Given the description of an element on the screen output the (x, y) to click on. 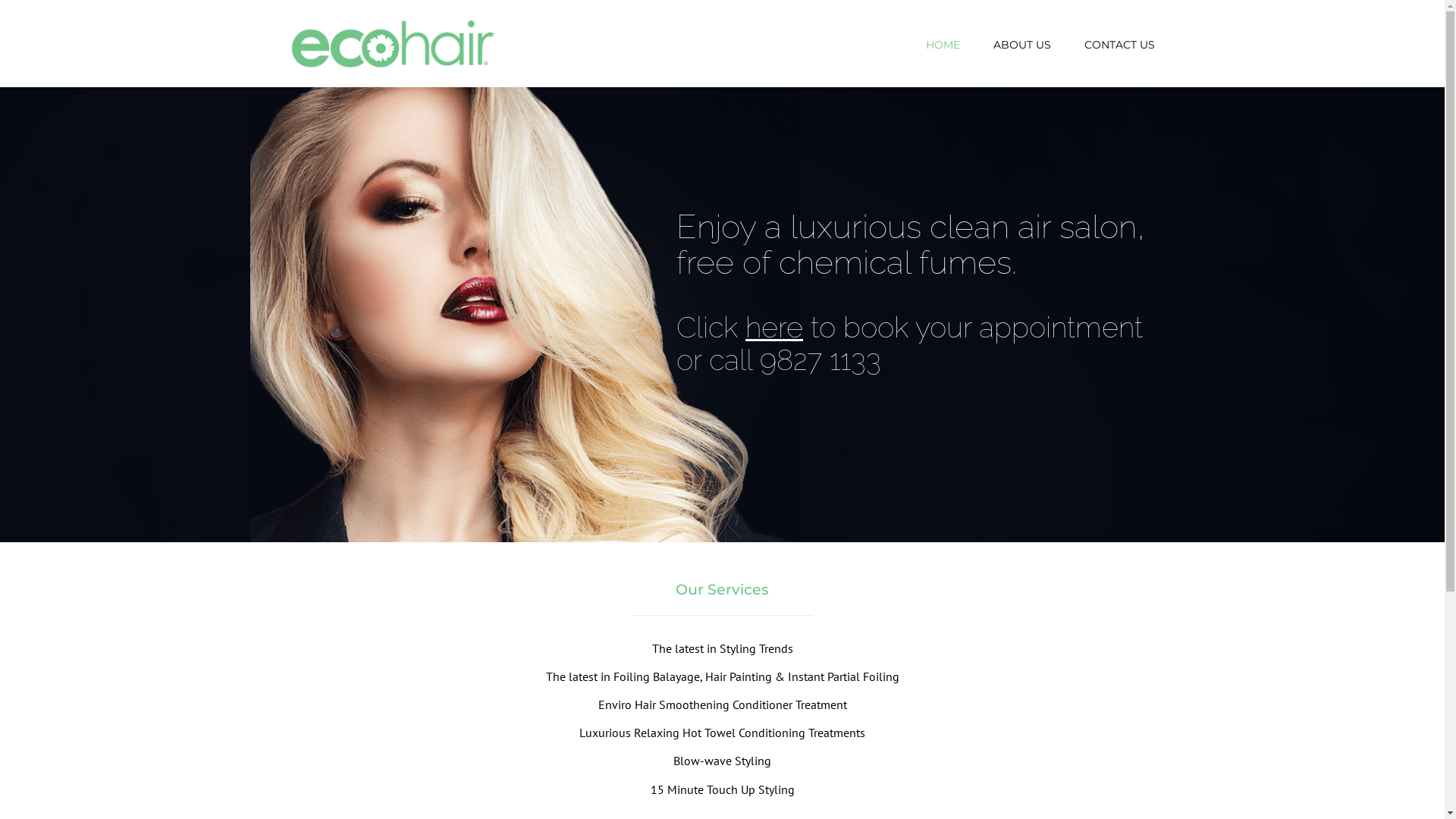
CONTACT US Element type: text (1119, 44)
here Element type: text (774, 327)
HOME Element type: text (941, 44)
ABOUT US Element type: text (1021, 44)
